Given the description of an element on the screen output the (x, y) to click on. 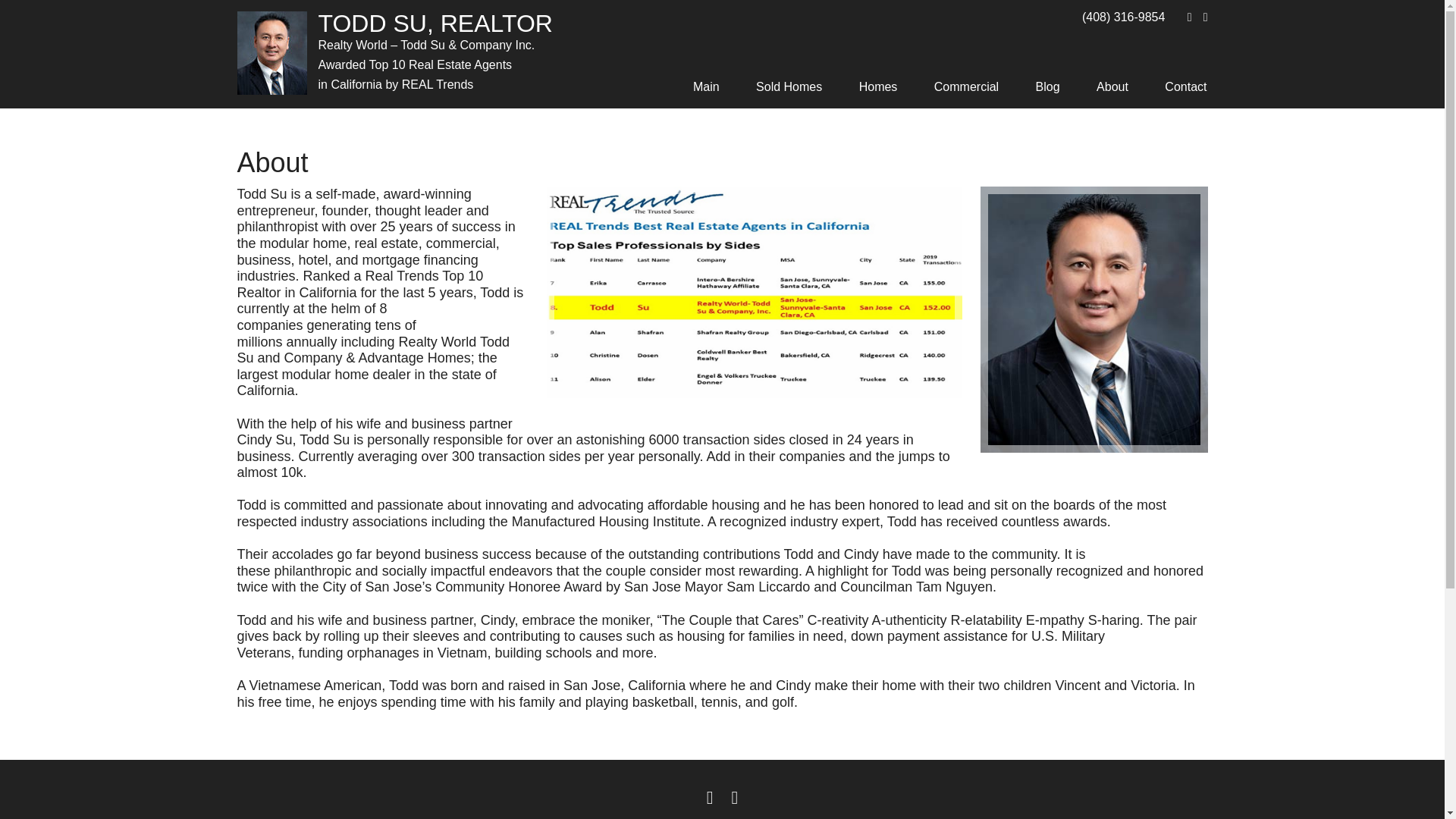
TODD SU, REALTOR (437, 23)
Main (706, 83)
Contact (1178, 83)
Home (706, 83)
About (1112, 83)
Sold Homes (789, 83)
Blog (1047, 83)
Homes (878, 83)
Commercial (965, 83)
